Given the description of an element on the screen output the (x, y) to click on. 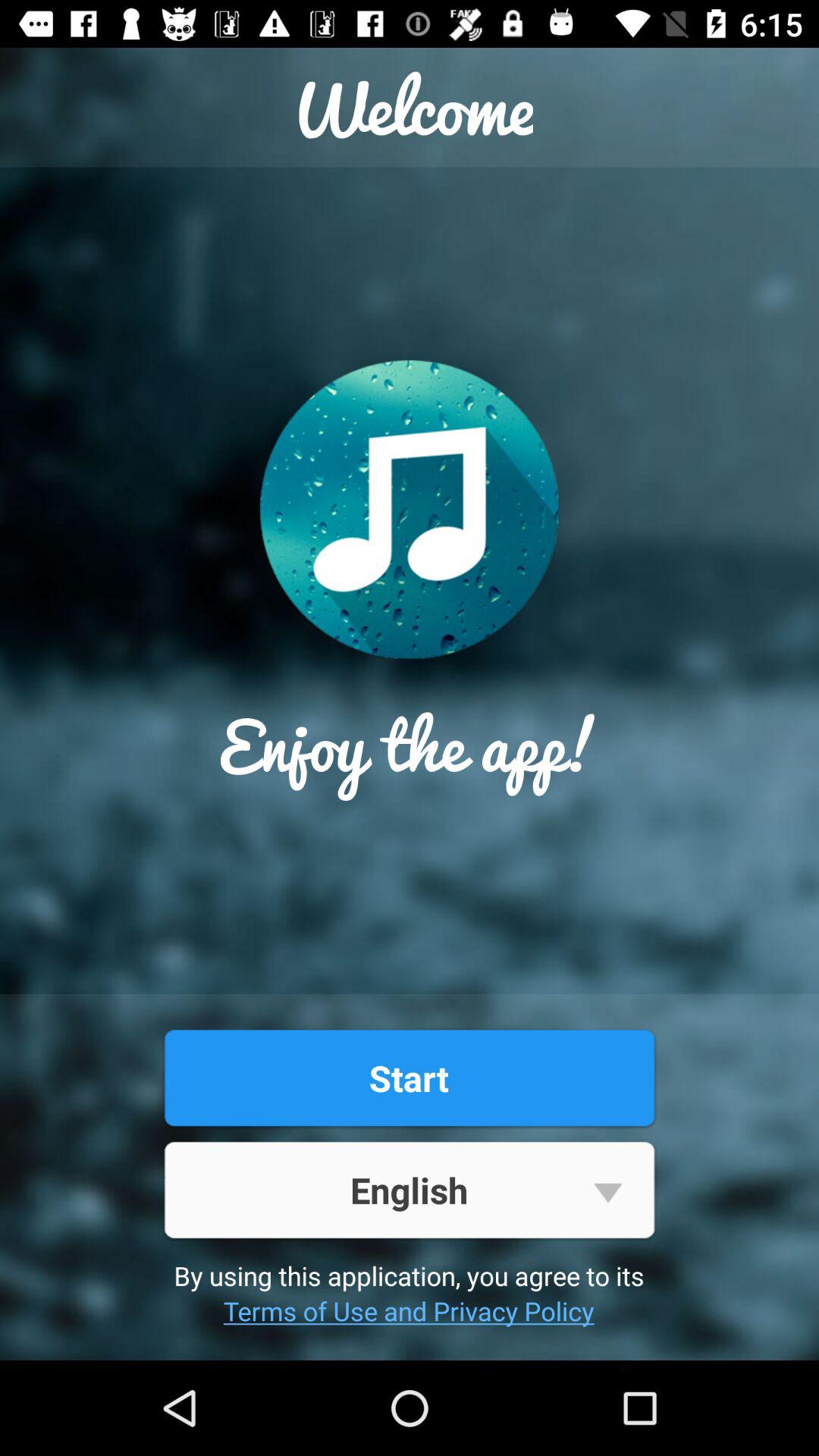
scroll until the start (409, 1078)
